Given the description of an element on the screen output the (x, y) to click on. 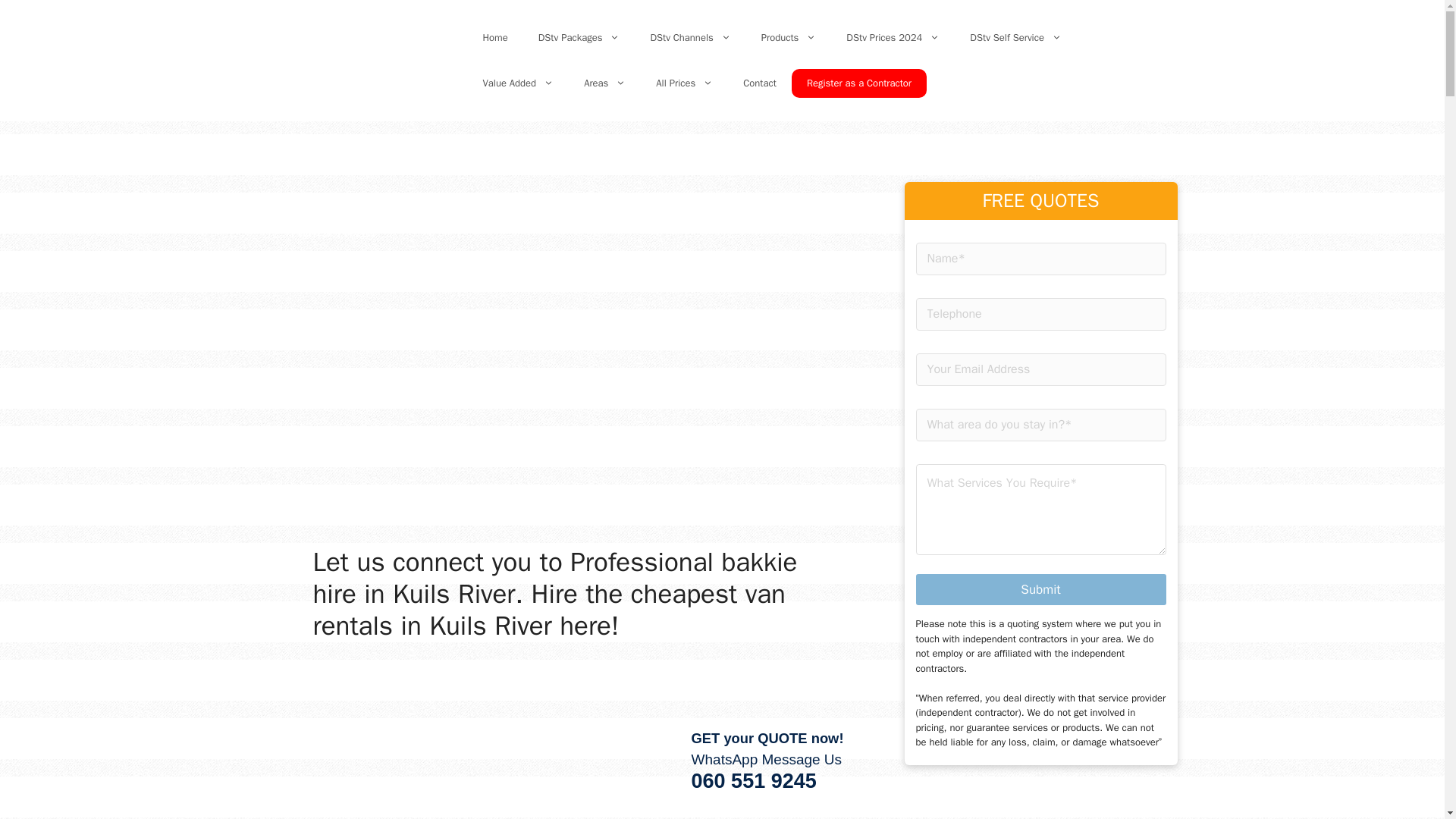
Home (494, 37)
DStv Packages (578, 37)
DStv Channels (689, 37)
Products (788, 37)
